Given the description of an element on the screen output the (x, y) to click on. 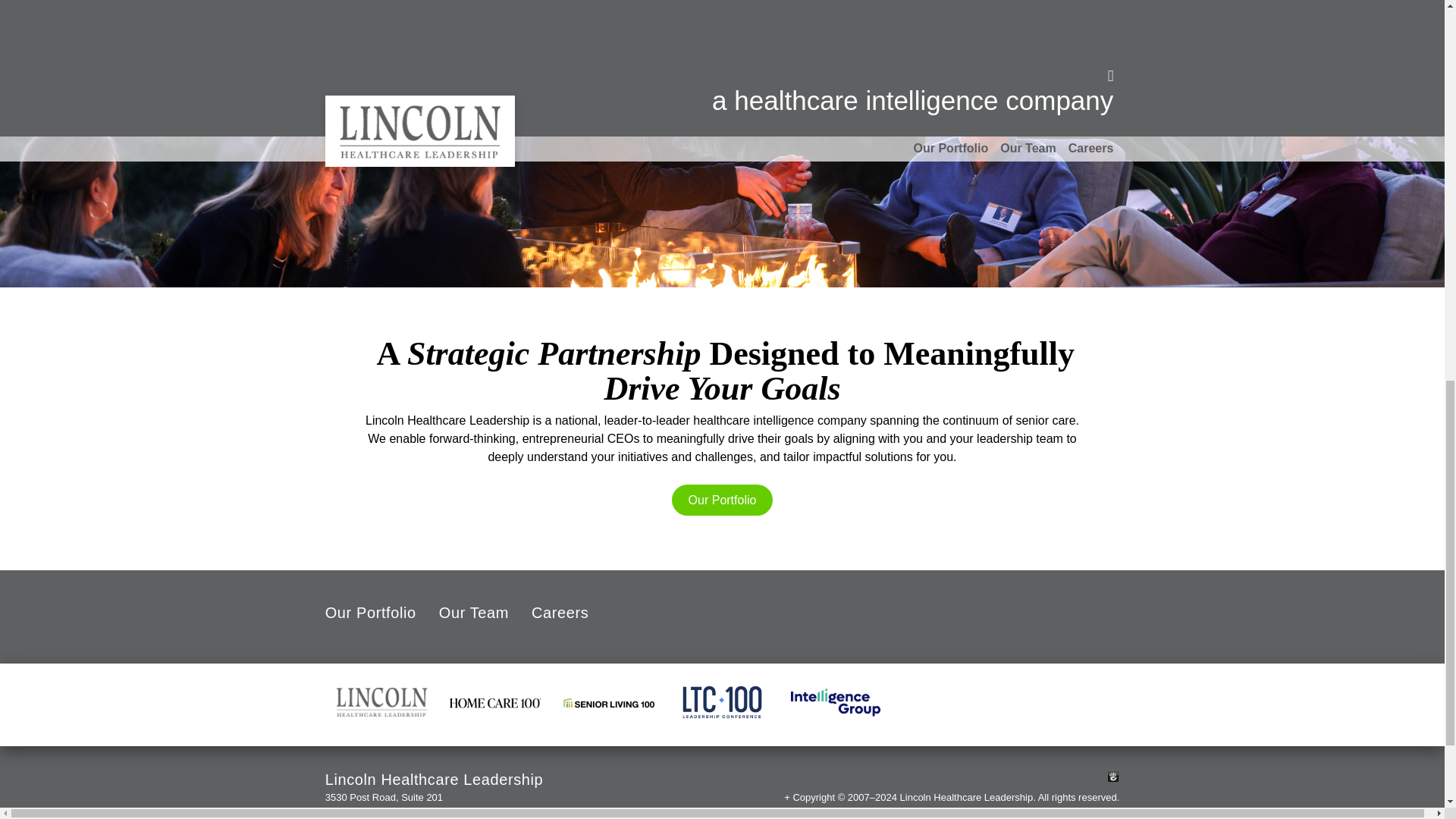
Our Portfolio (721, 499)
Our Team (473, 614)
Our Portfolio (370, 614)
Chris Hample Design, Inc (1063, 814)
Log In (1112, 776)
Careers (559, 614)
